Given the description of an element on the screen output the (x, y) to click on. 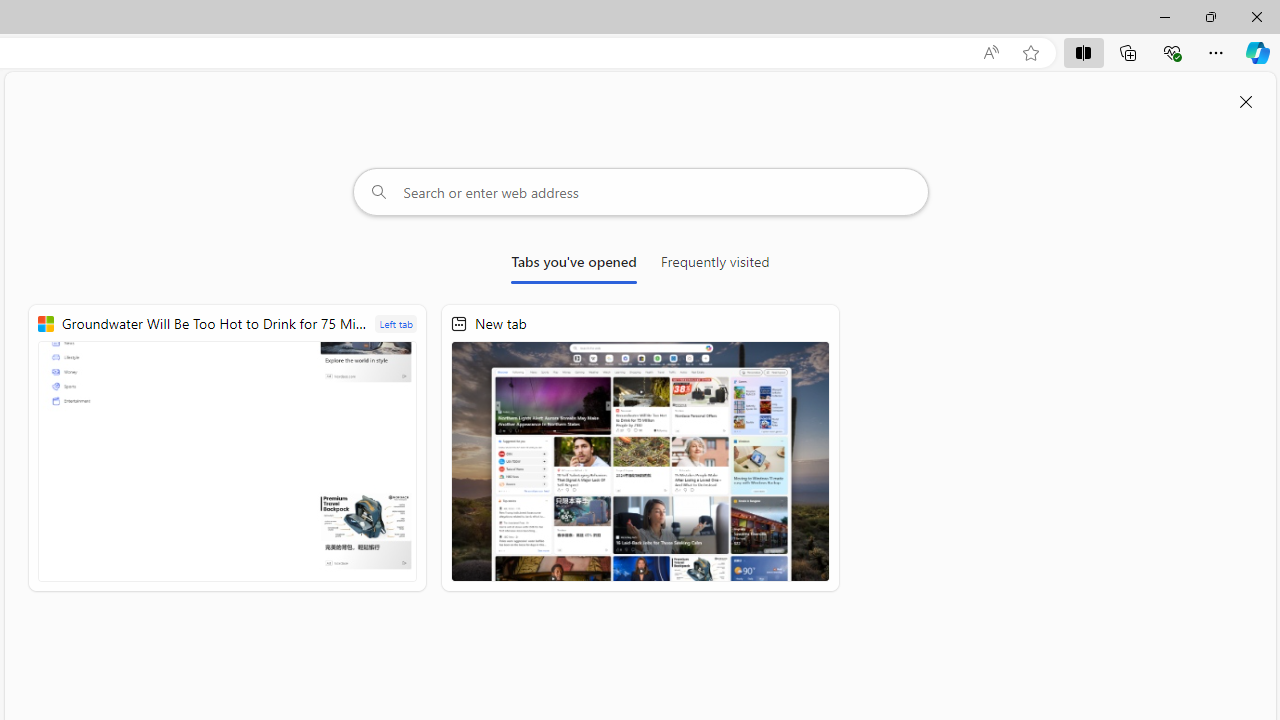
Close split screen (1245, 102)
